Given the description of an element on the screen output the (x, y) to click on. 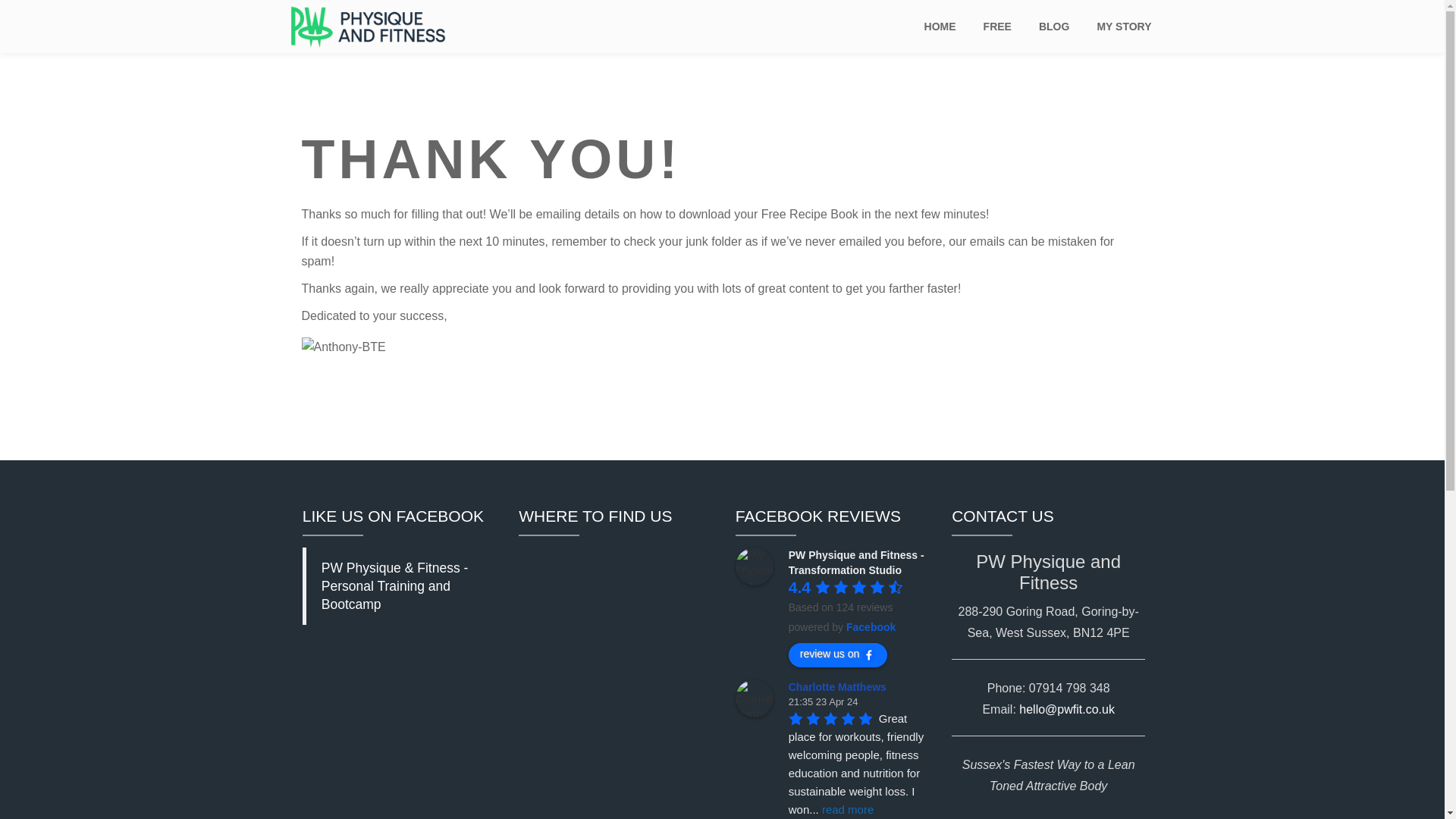
Anthony-BTE (343, 347)
review us on (838, 654)
Charlotte Matthews (840, 686)
MY STORY (1123, 26)
PW Physique and Fitness - Transformation Studio (754, 566)
PW Physique and Fitness - Transformation Studio (856, 562)
Charlotte Matthews (754, 698)
HOME (940, 26)
FREE (997, 26)
BLOG (1053, 26)
